Given the description of an element on the screen output the (x, y) to click on. 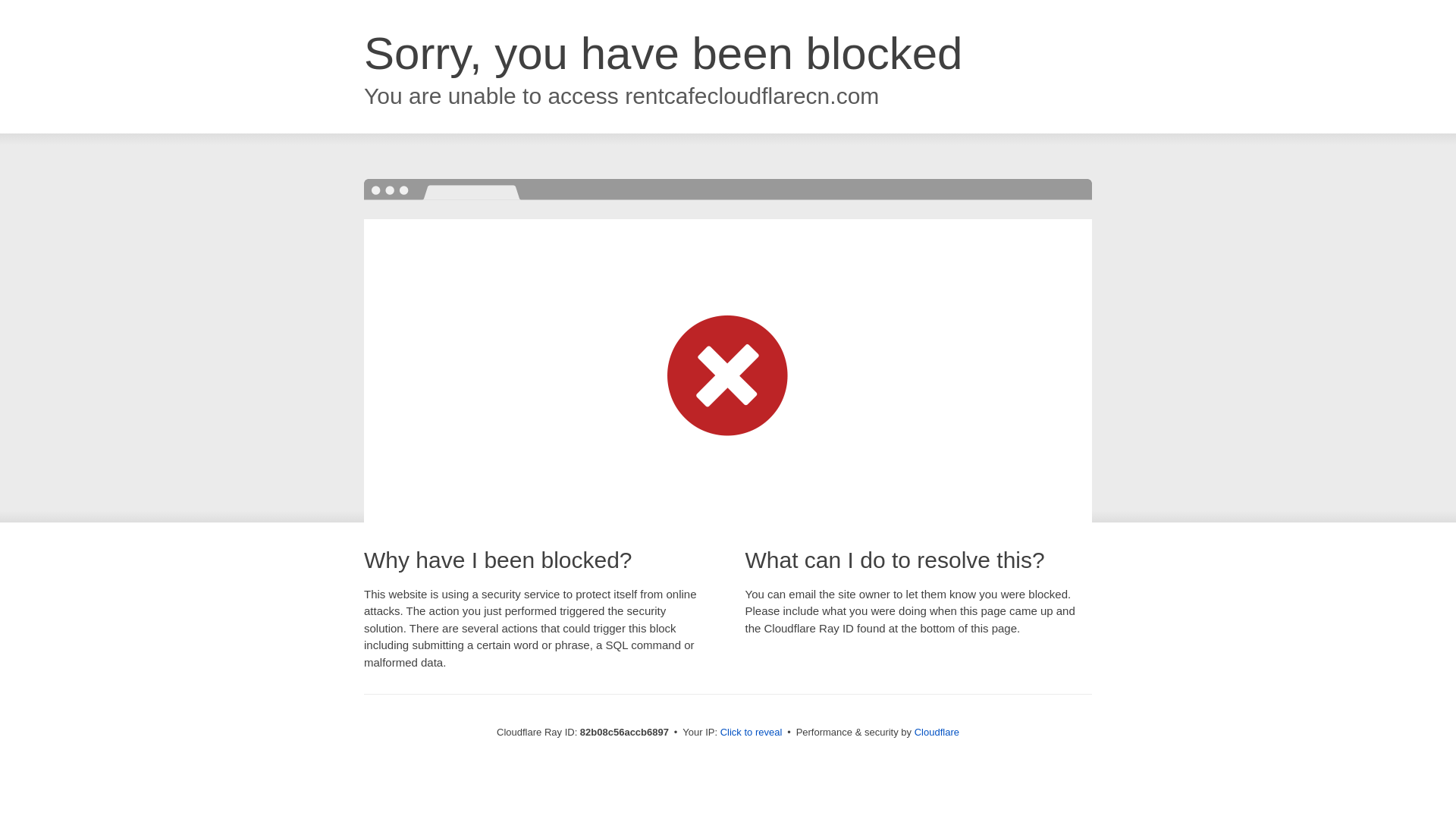
Cloudflare Element type: text (936, 731)
Click to reveal Element type: text (751, 732)
